Given the description of an element on the screen output the (x, y) to click on. 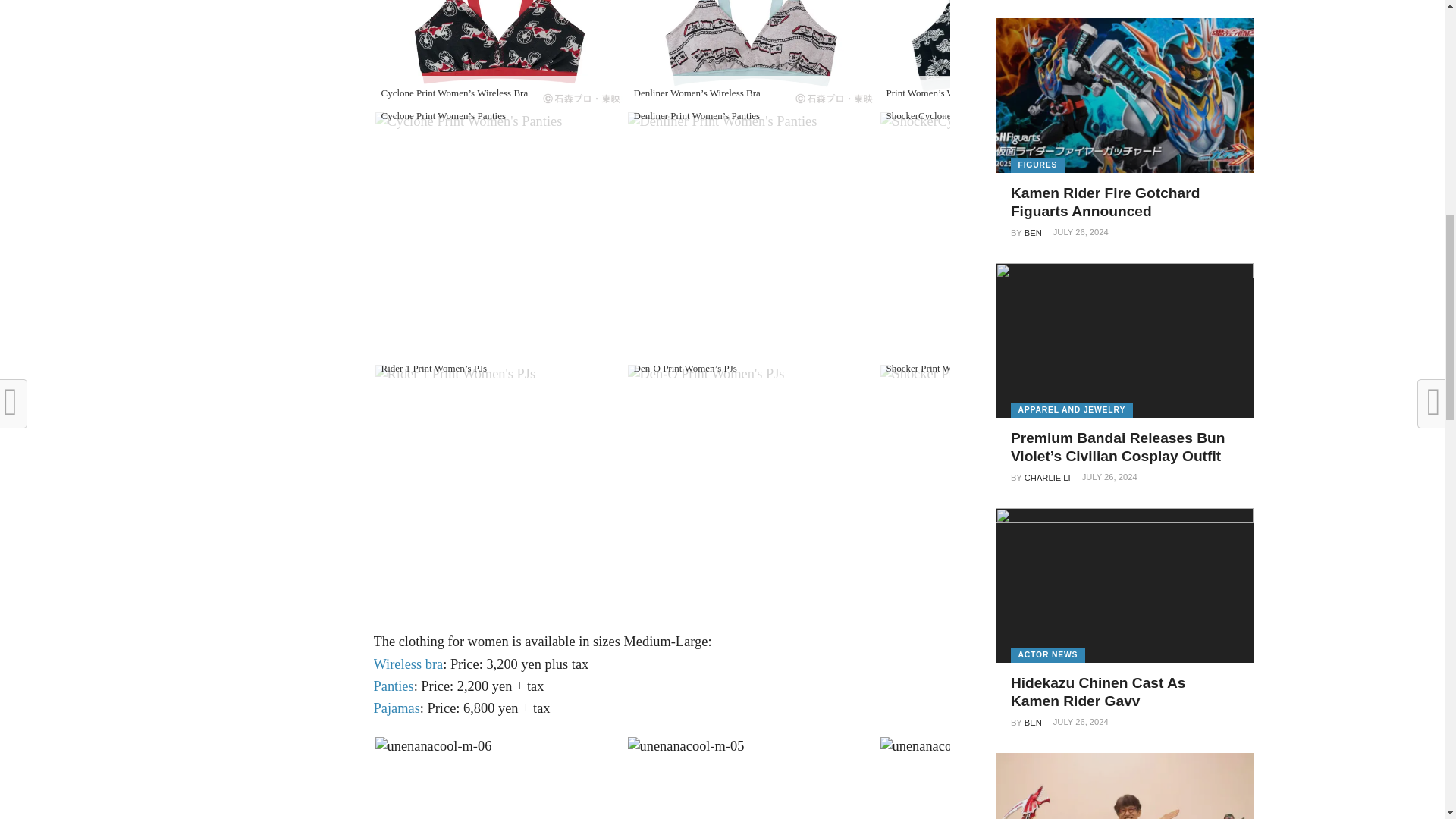
unenanacool-02 (752, 54)
unenanacool-01 (499, 54)
unenanacool-05 (721, 121)
unenanacool-03 (1004, 54)
unenanacool-04 (468, 121)
